Given the description of an element on the screen output the (x, y) to click on. 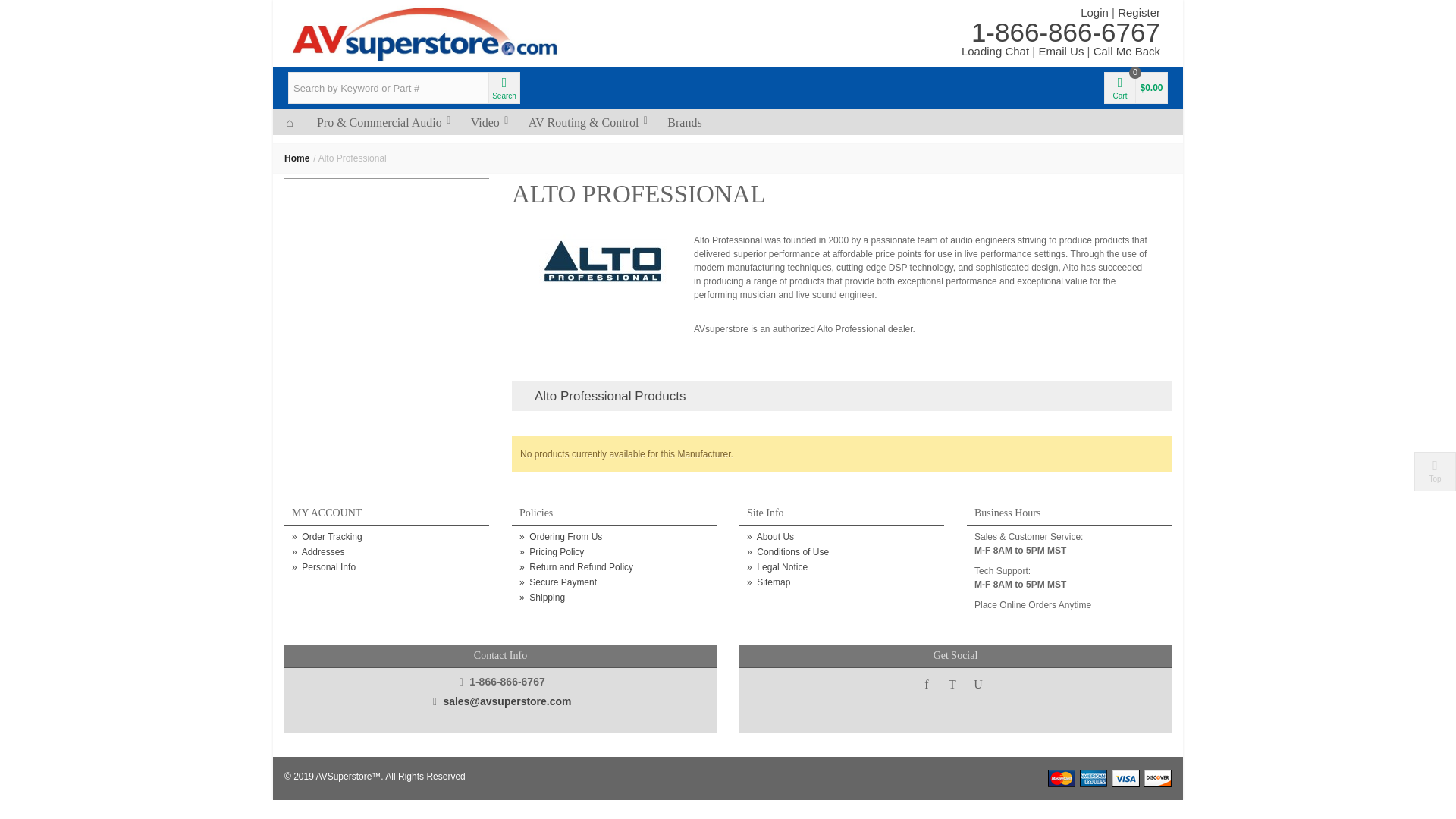
Email Us (1060, 51)
Register (1139, 11)
Call Me Back (1126, 51)
Login (1094, 11)
Loading Chat (994, 51)
Login to your customer account (1094, 11)
1-866-866-6767 (1065, 31)
Search (503, 88)
AVsuperstore (423, 32)
Login to your customer account (1139, 11)
